Given the description of an element on the screen output the (x, y) to click on. 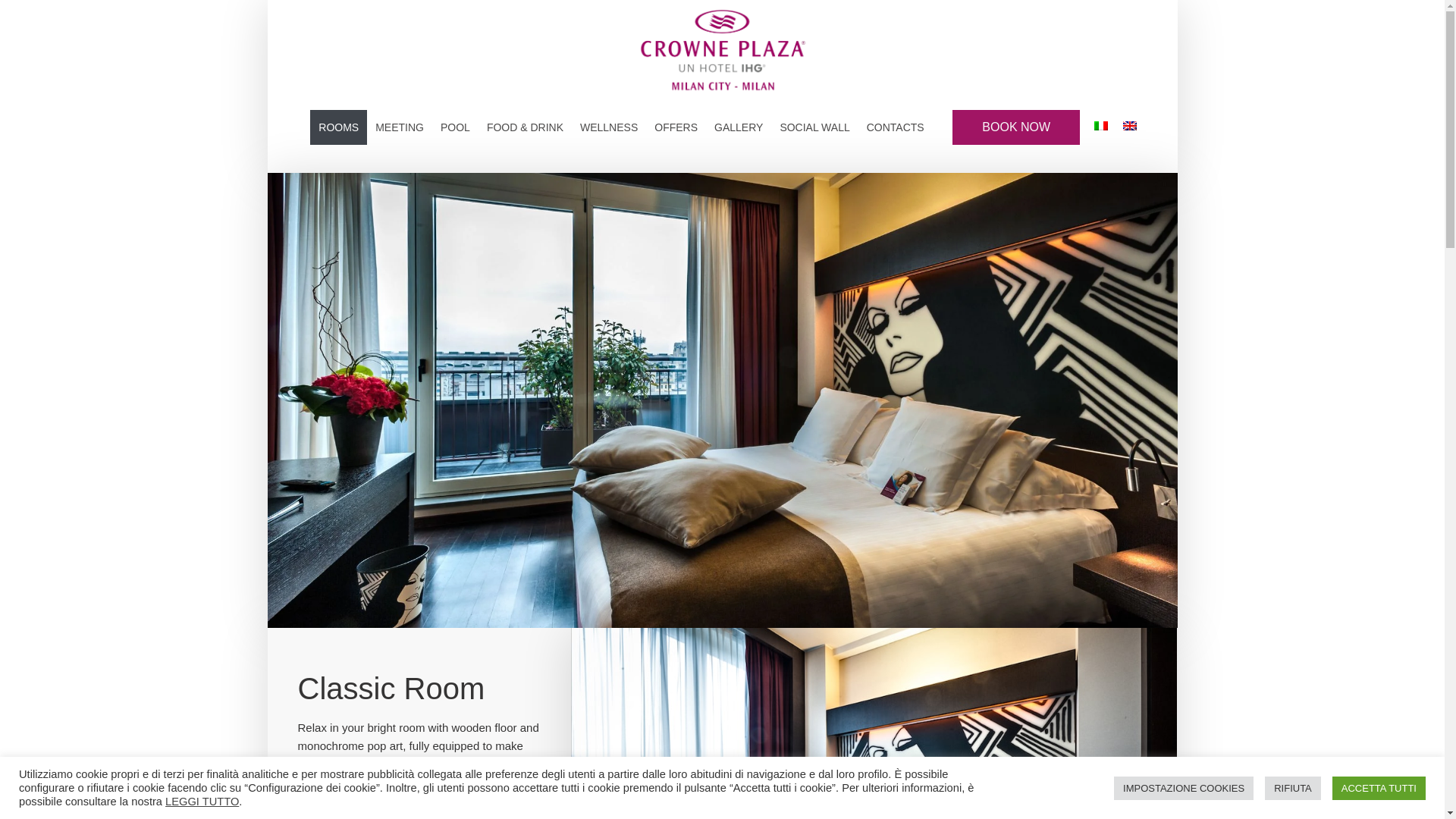
CONTACTS (896, 126)
WELLNESS (609, 126)
GALLERY (738, 126)
OFFERS (676, 126)
ROOMS (338, 126)
SOCIAL WALL (814, 126)
MEETING (399, 126)
POOL (455, 126)
